Given the description of an element on the screen output the (x, y) to click on. 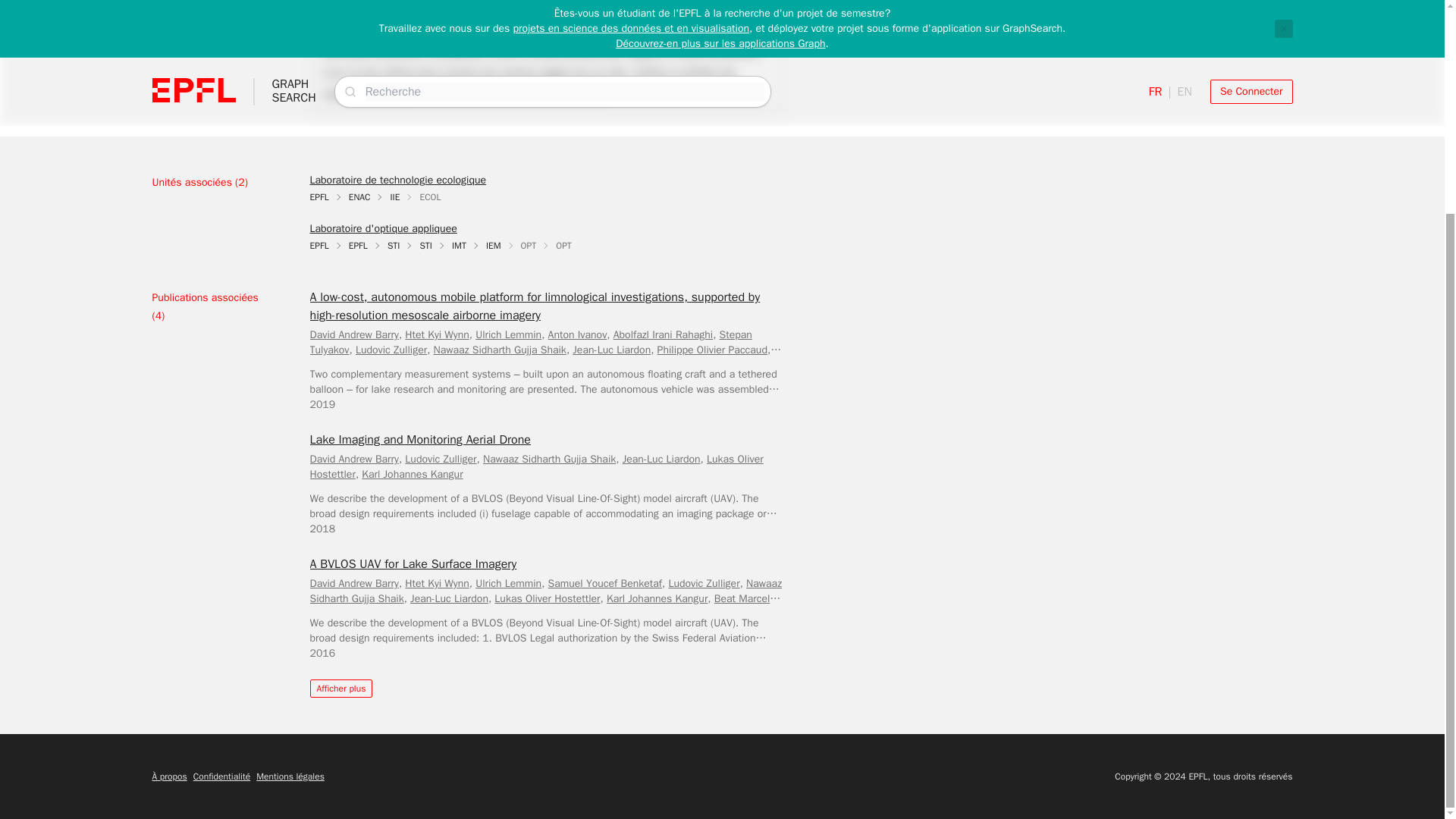
Htet Kyi Wynn (436, 334)
Laboratoire de technologie ecologique (397, 180)
David Andrew Barry (352, 334)
Stepan Tulyakov (529, 342)
IEM (493, 245)
EPFL (358, 245)
Ulrich Lemmin (508, 334)
IMT (458, 245)
STI (425, 245)
